Given the description of an element on the screen output the (x, y) to click on. 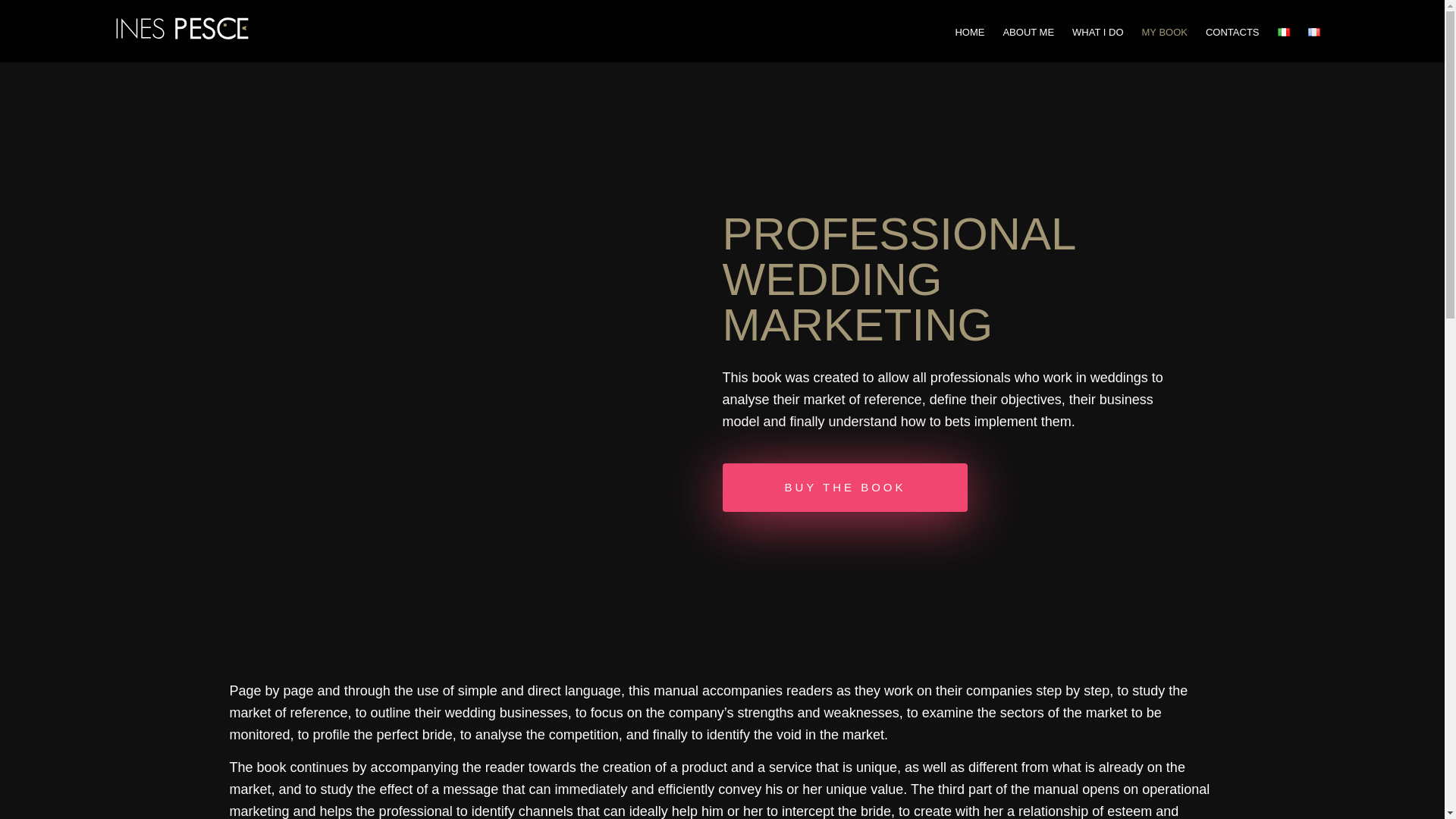
HOME (968, 32)
ABOUT ME (1027, 32)
WHAT I DO (1097, 32)
MY BOOK (1164, 32)
BUY THE BOOK (845, 487)
CONTACTS (1232, 32)
